Given the description of an element on the screen output the (x, y) to click on. 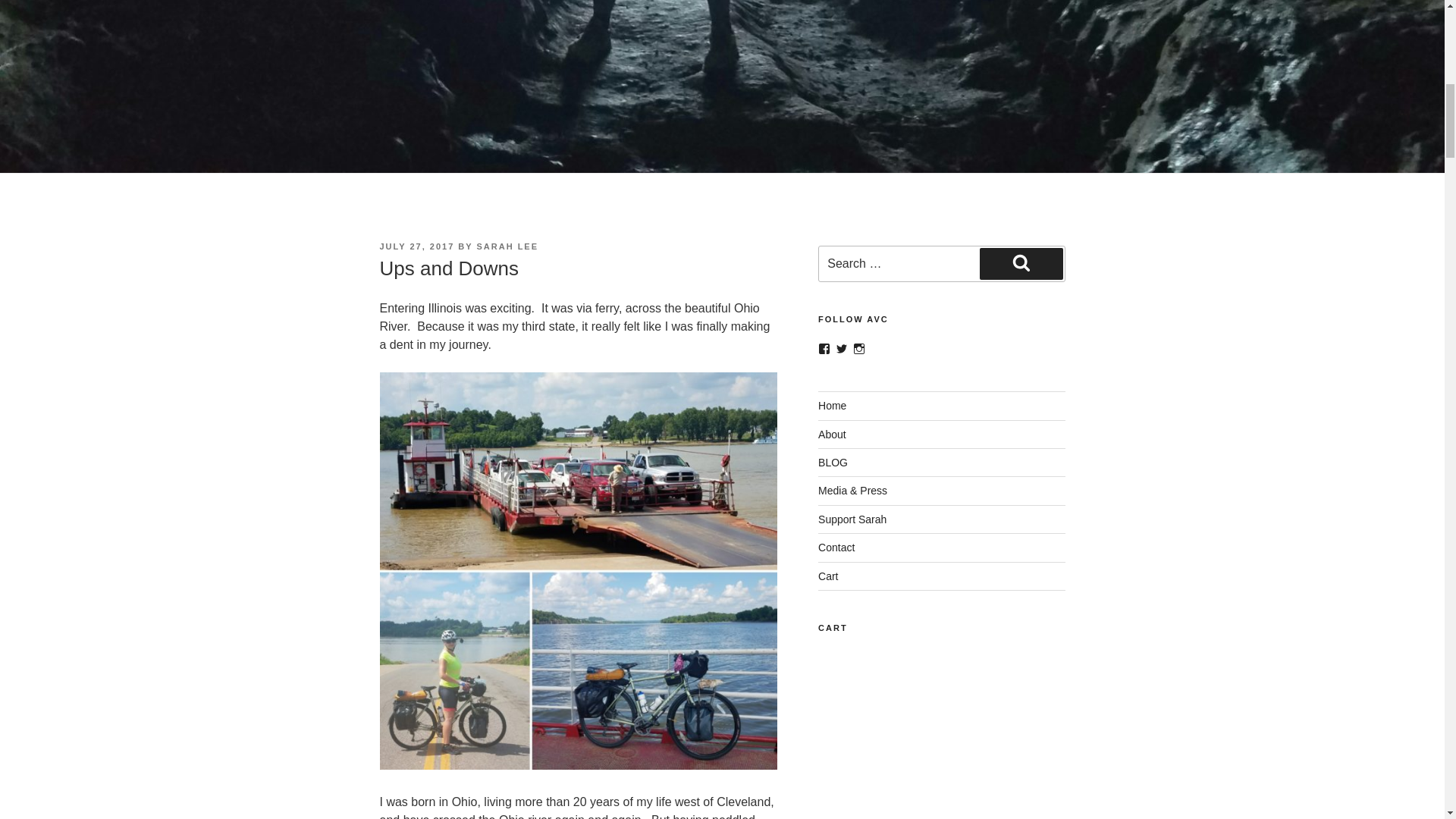
Search (1020, 264)
About (831, 434)
Home (831, 405)
Contact (836, 547)
BLOG (832, 462)
Cart (828, 576)
Support Sarah (852, 519)
JULY 27, 2017 (416, 245)
SARAH LEE (507, 245)
